Given the description of an element on the screen output the (x, y) to click on. 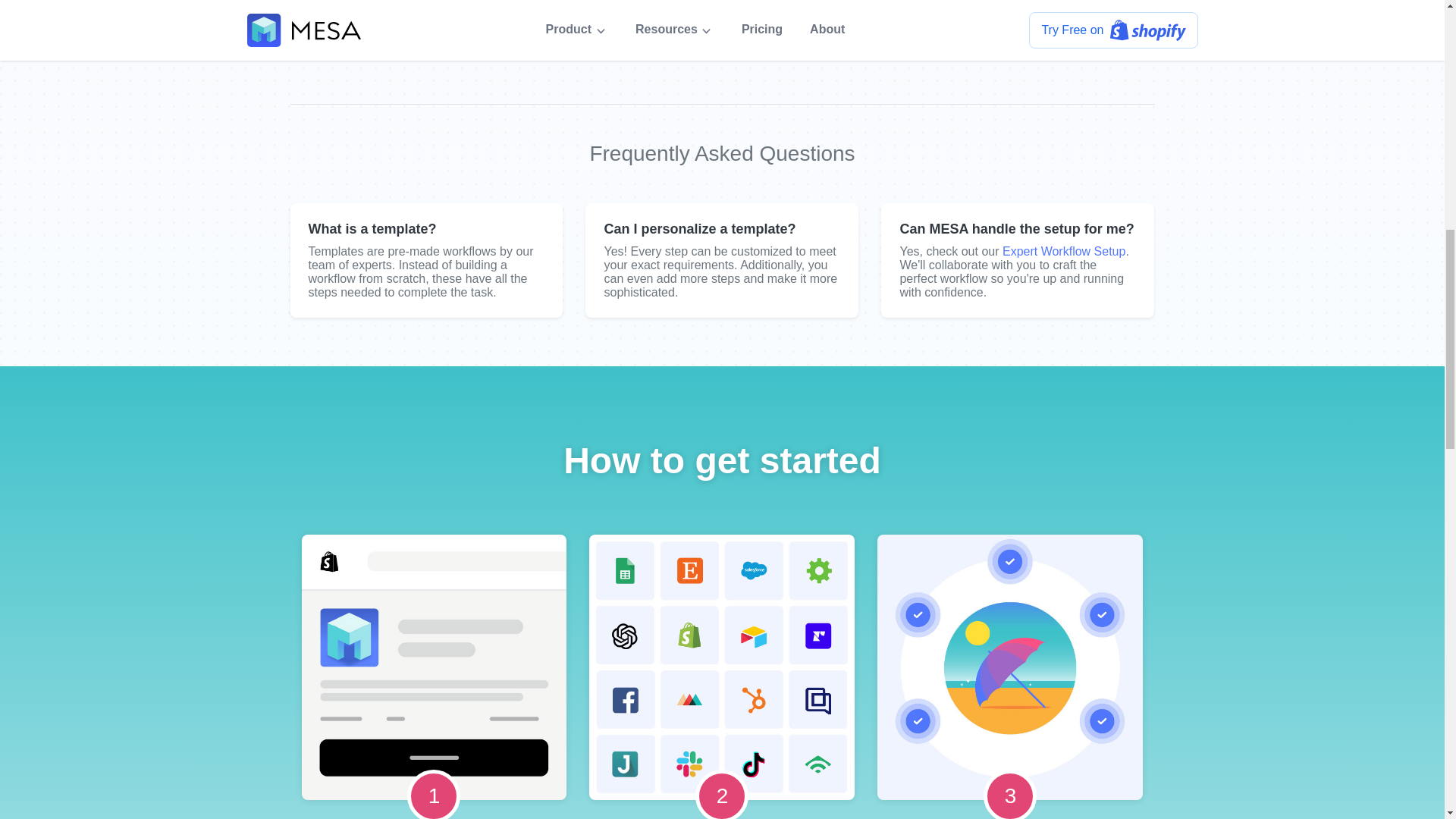
Expert Workflow Setup (1064, 250)
